Given the description of an element on the screen output the (x, y) to click on. 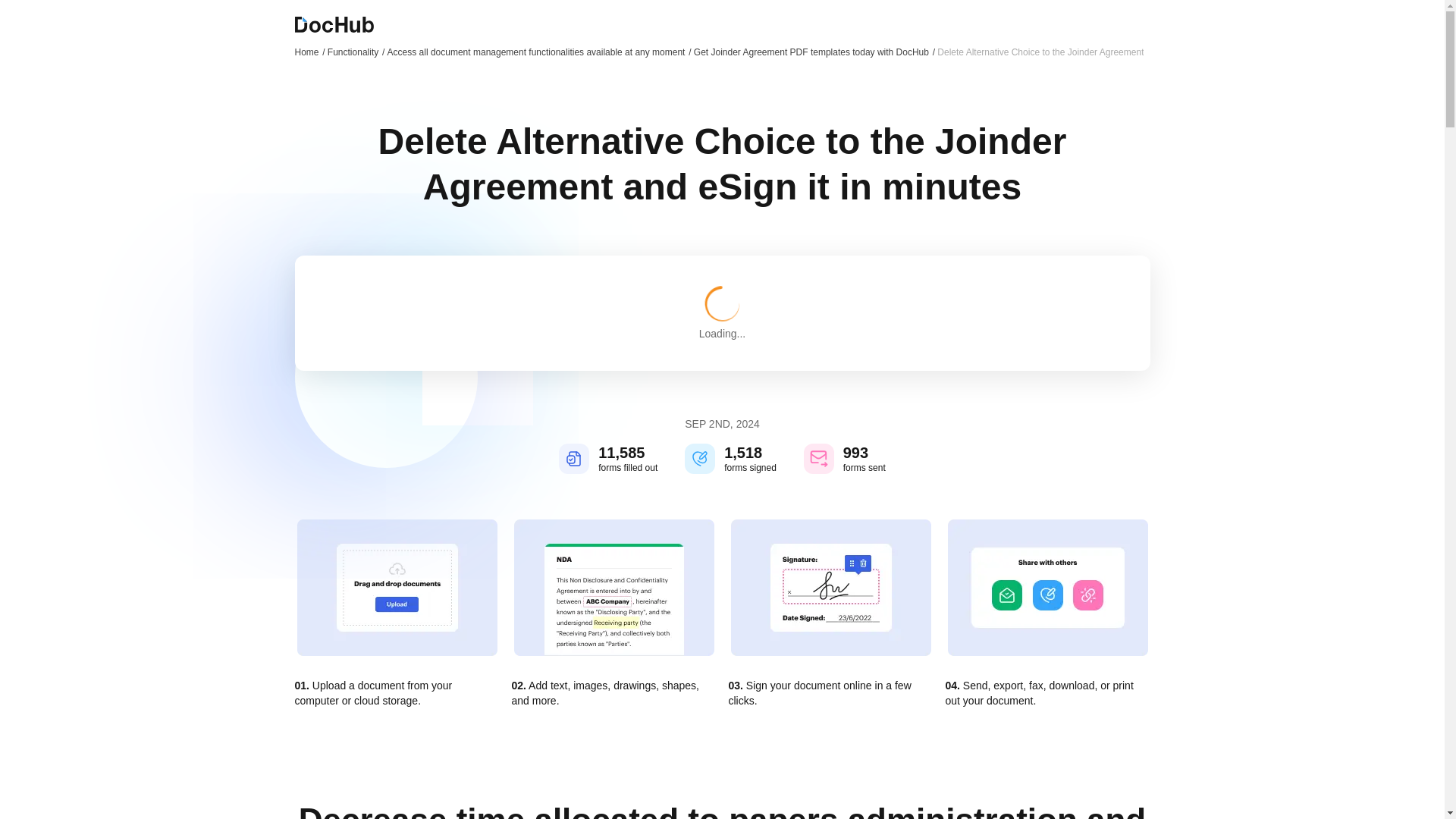
Get Joinder Agreement PDF templates today with DocHub (814, 51)
Functionality (355, 51)
Home (309, 51)
